Given the description of an element on the screen output the (x, y) to click on. 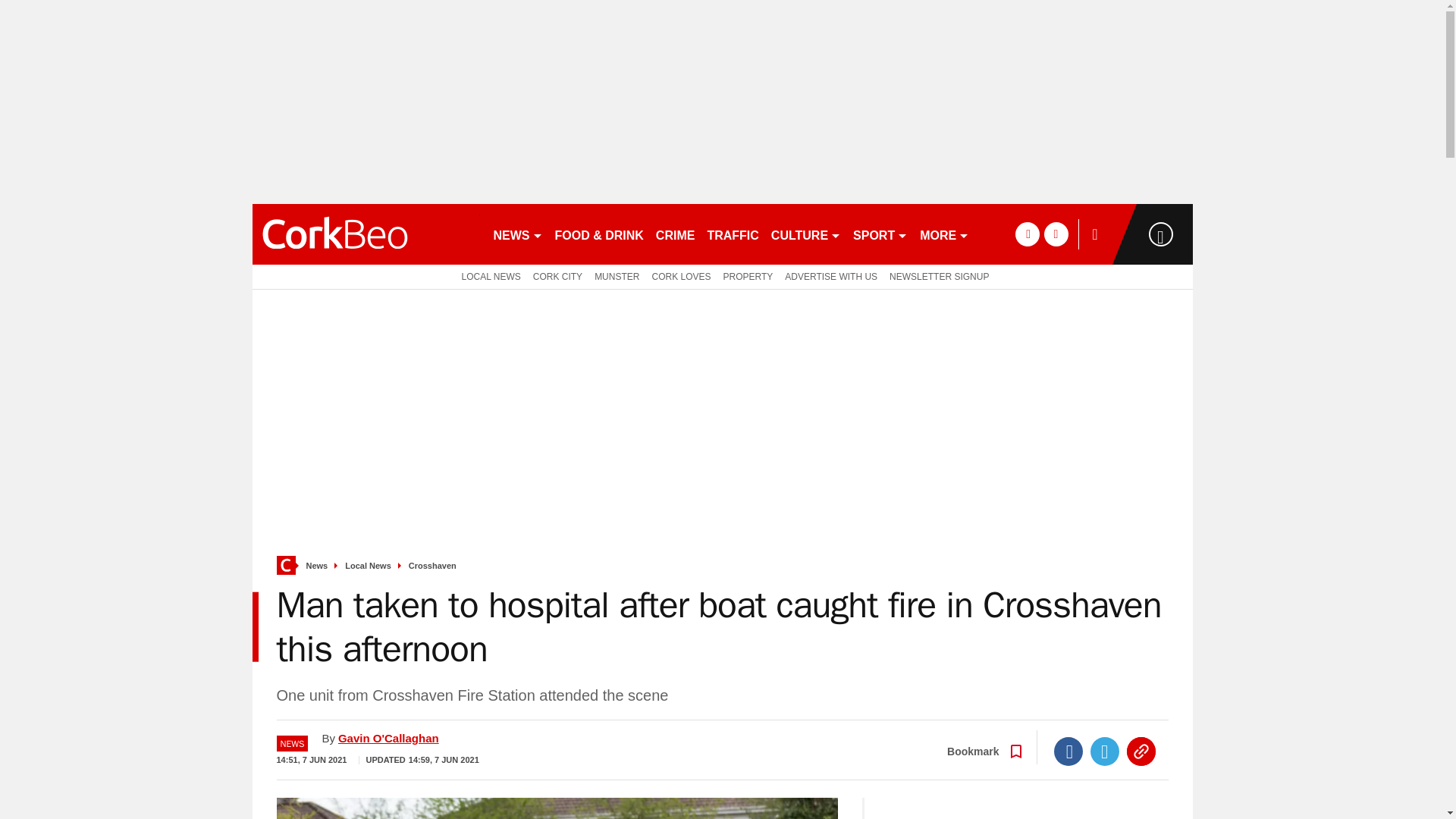
TRAFFIC (732, 233)
PROPERTY (747, 275)
NEWSLETTER SIGNUP (938, 275)
NEWS (517, 233)
Twitter (1104, 751)
facebook (1026, 233)
MUNSTER (616, 275)
Facebook (1068, 751)
CORK LOVES (680, 275)
frontpage (285, 565)
